Given the description of an element on the screen output the (x, y) to click on. 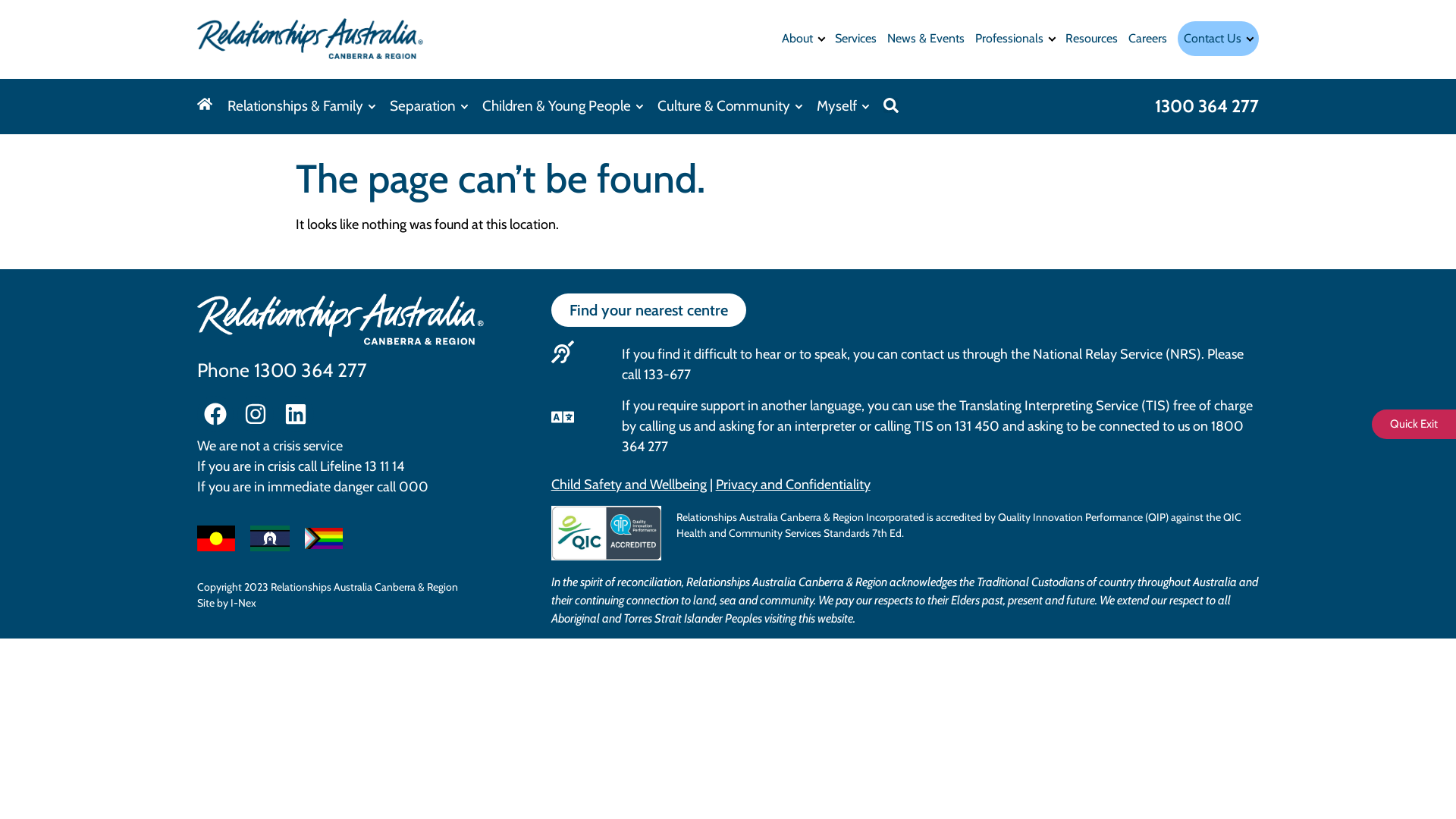
Resources Element type: text (1091, 38)
Separation Element type: text (428, 106)
Myself Element type: text (842, 106)
News & Events Element type: text (925, 38)
Children & Young People Element type: text (562, 106)
Professionals Element type: text (1014, 38)
Privacy and Confidentiality Element type: text (792, 484)
Careers Element type: text (1147, 38)
Find your nearest centre Element type: text (648, 309)
Child Safety and Wellbeing Element type: text (628, 484)
Culture & Community Element type: text (729, 106)
About Element type: text (802, 38)
Services Element type: text (855, 38)
Contact Us Element type: text (1217, 38)
Relationships & Family Element type: text (300, 106)
